Given the description of an element on the screen output the (x, y) to click on. 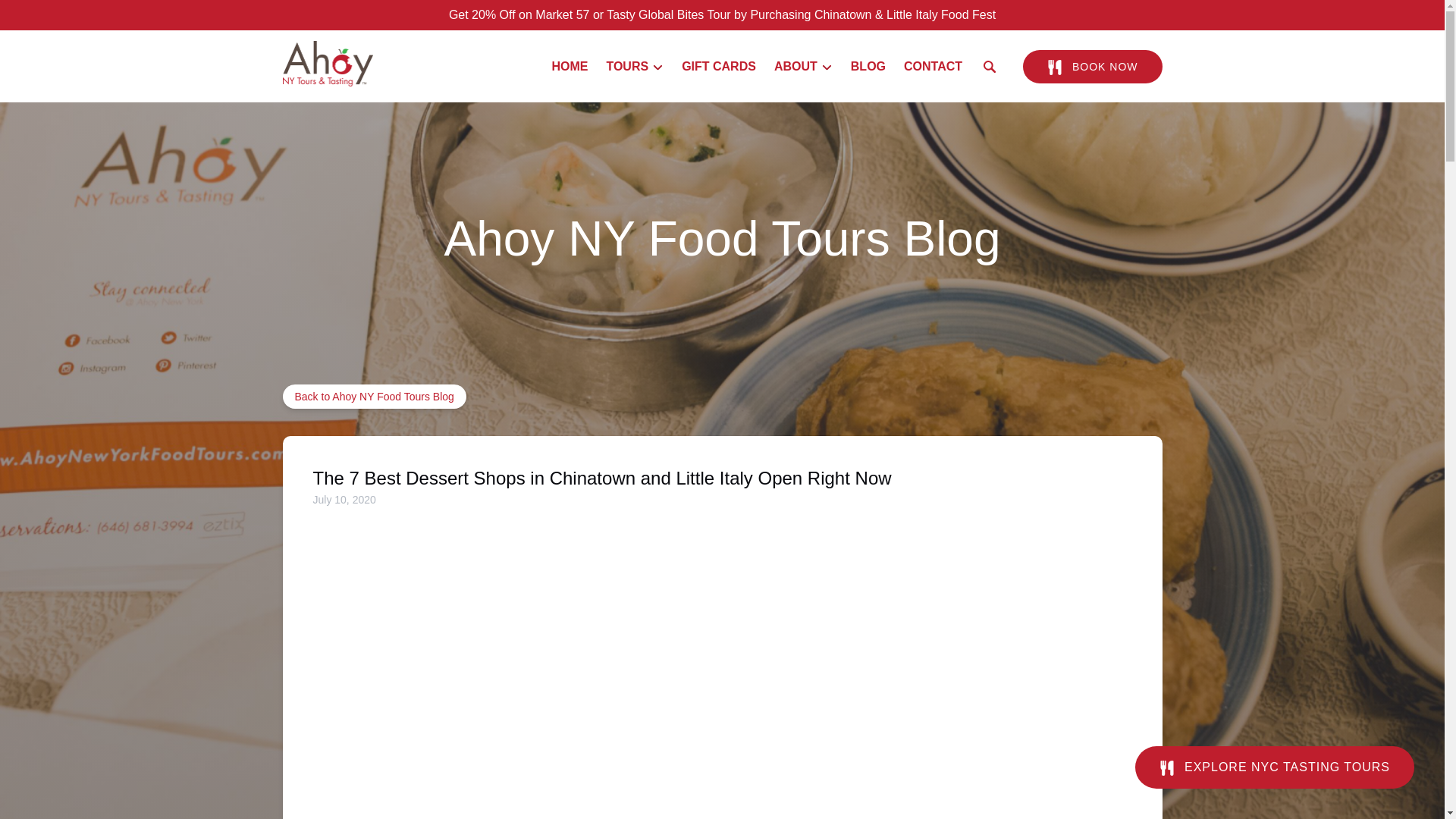
FOOD EXPLORE NYC TASTING TOURS (1274, 754)
Click here to return to Ahoy NY Food Tours Blog (373, 396)
TOURS (634, 66)
Skip to primary navigation (77, 16)
Skip to footer (42, 16)
Skip to content (47, 16)
Open Tours Menu (638, 62)
HOME (568, 66)
FOOD (1166, 767)
Back to Ahoy NY Food Tours Blog (373, 396)
GIFT CARDS (718, 66)
CONTACT (933, 66)
BLOG (868, 66)
ABOUT (803, 66)
FOOD (1054, 67)
